Given the description of an element on the screen output the (x, y) to click on. 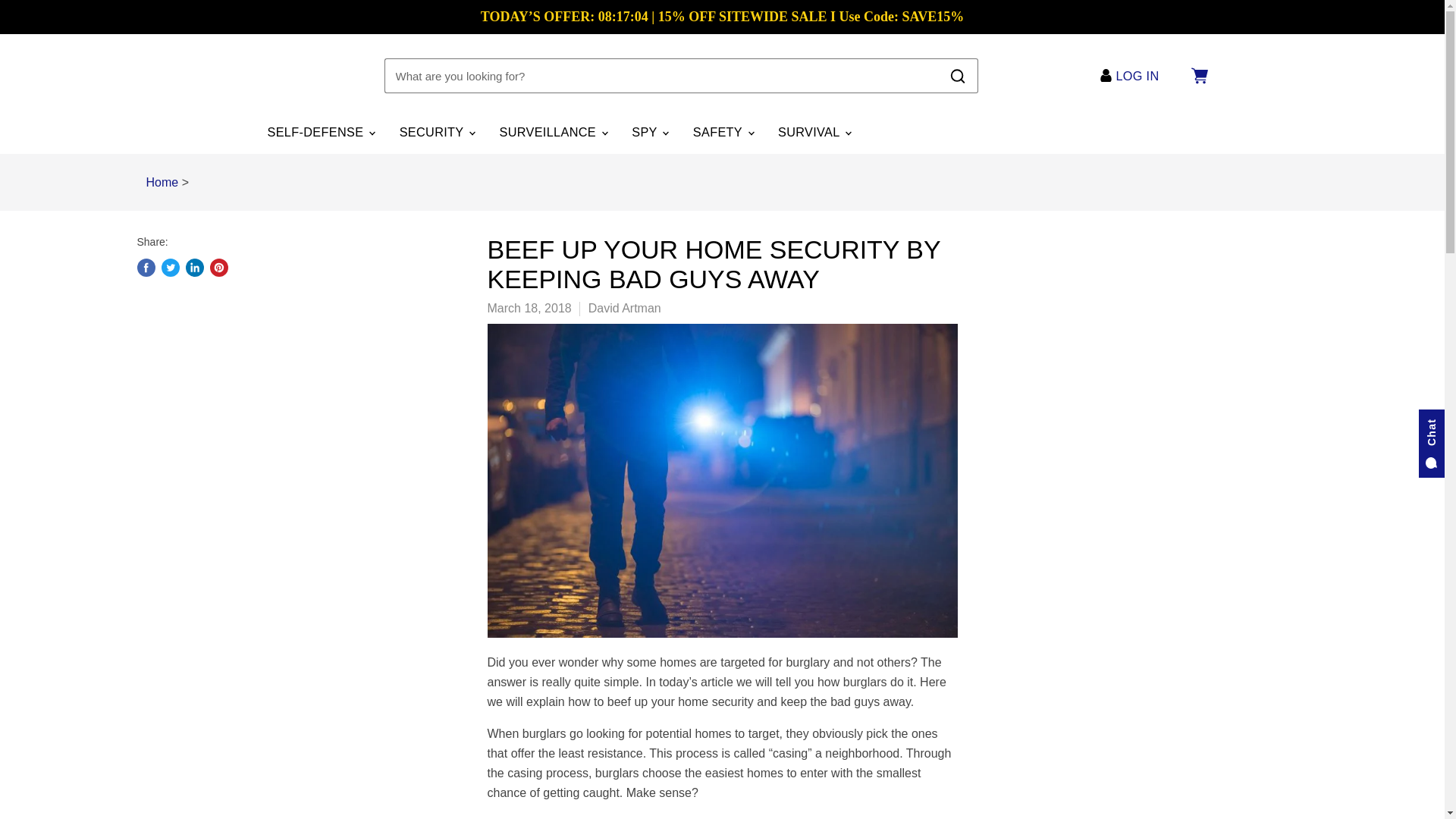
View cart (1199, 75)
ACCOUNT ICON (1105, 74)
ACCOUNT ICON LOG IN (1133, 75)
SELF-DEFENSE (320, 132)
